Given the description of an element on the screen output the (x, y) to click on. 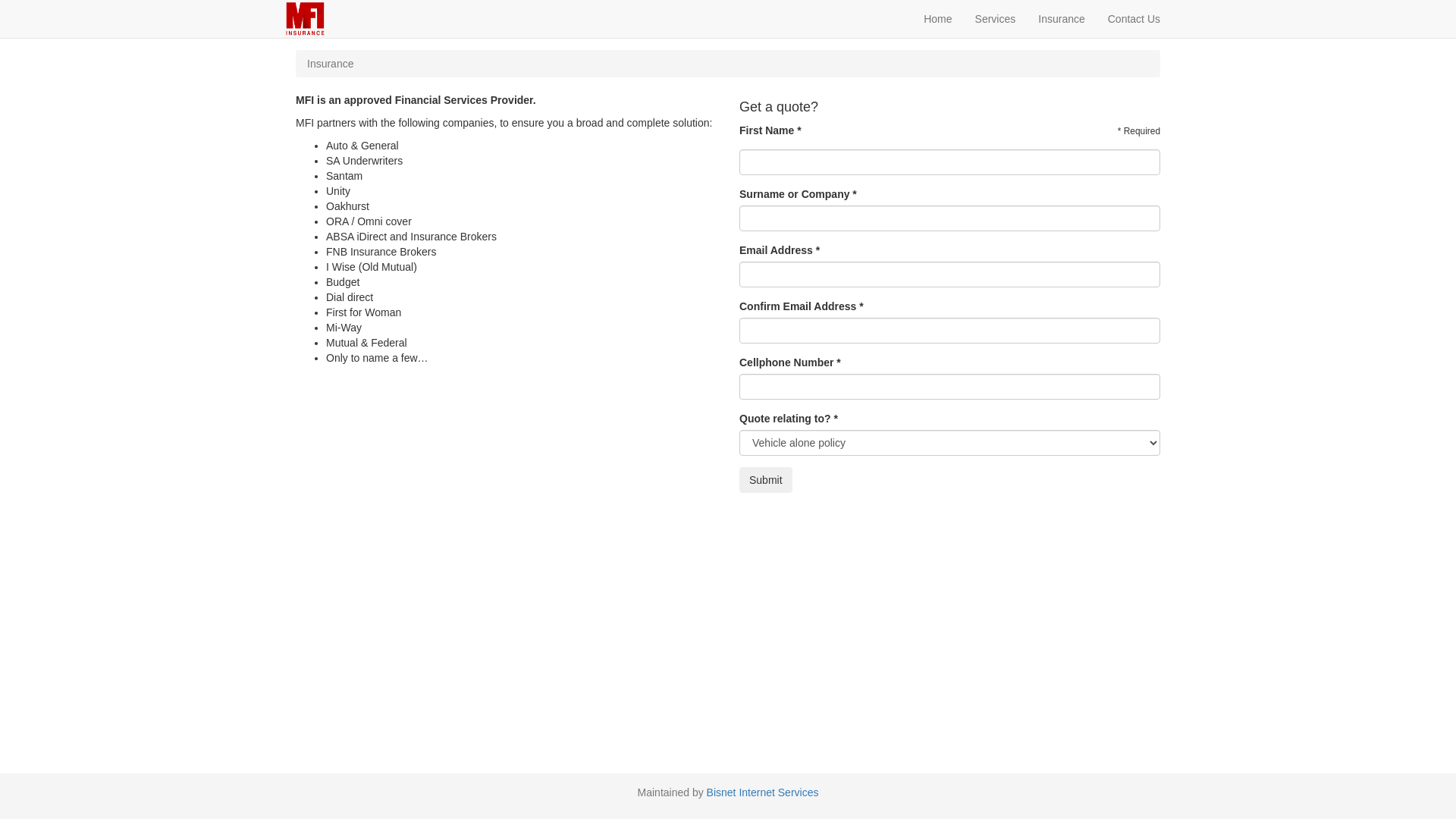
Services Element type: text (995, 18)
Insurance Element type: text (1060, 18)
Contact Us Element type: text (1133, 18)
Submit Element type: text (765, 479)
Bisnet Internet Services Element type: text (762, 792)
Home Element type: text (937, 18)
